Given the description of an element on the screen output the (x, y) to click on. 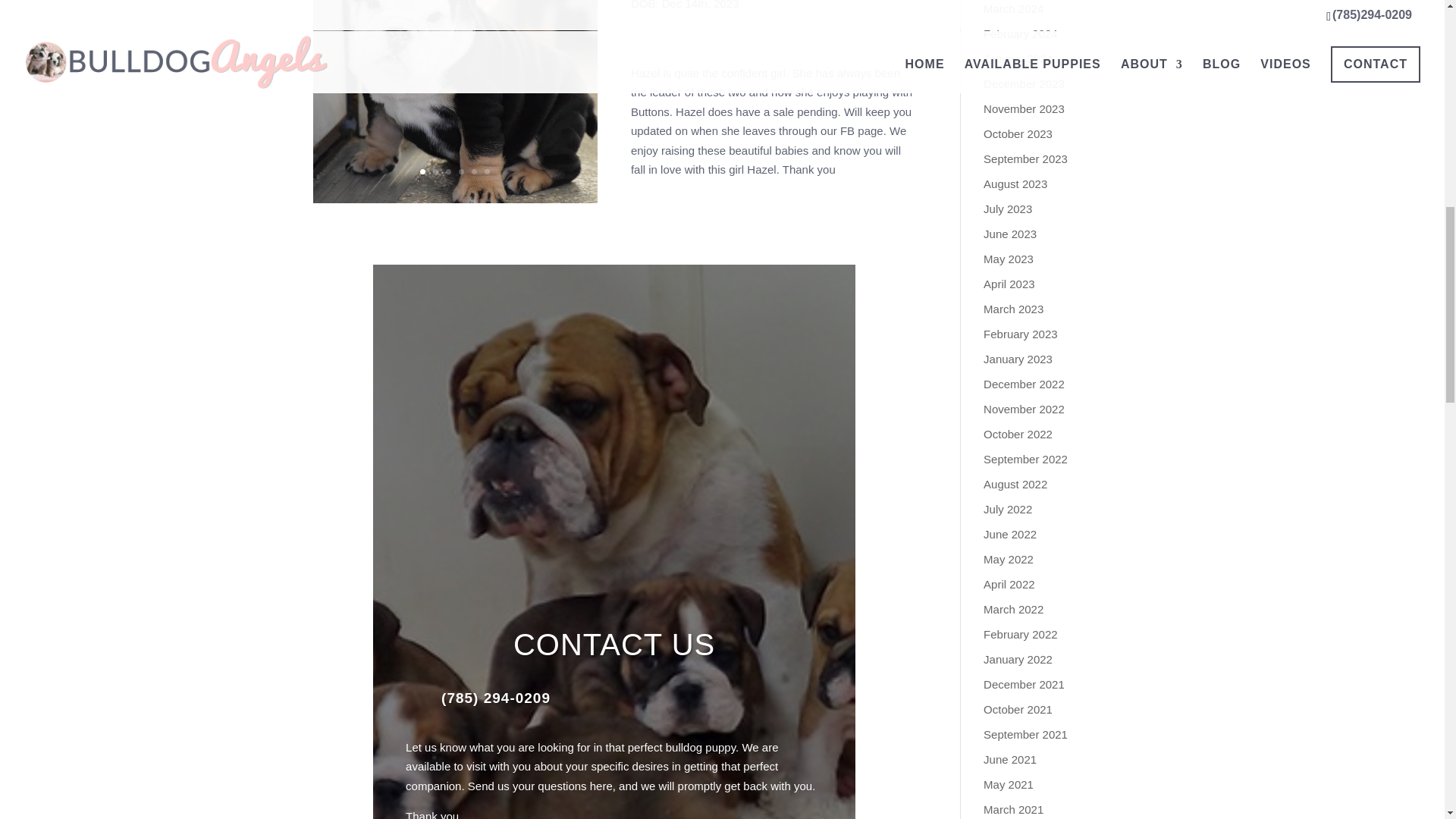
5 (474, 171)
3 (448, 171)
blackfemale8wk (454, 202)
2 (435, 171)
4 (461, 171)
